Given the description of an element on the screen output the (x, y) to click on. 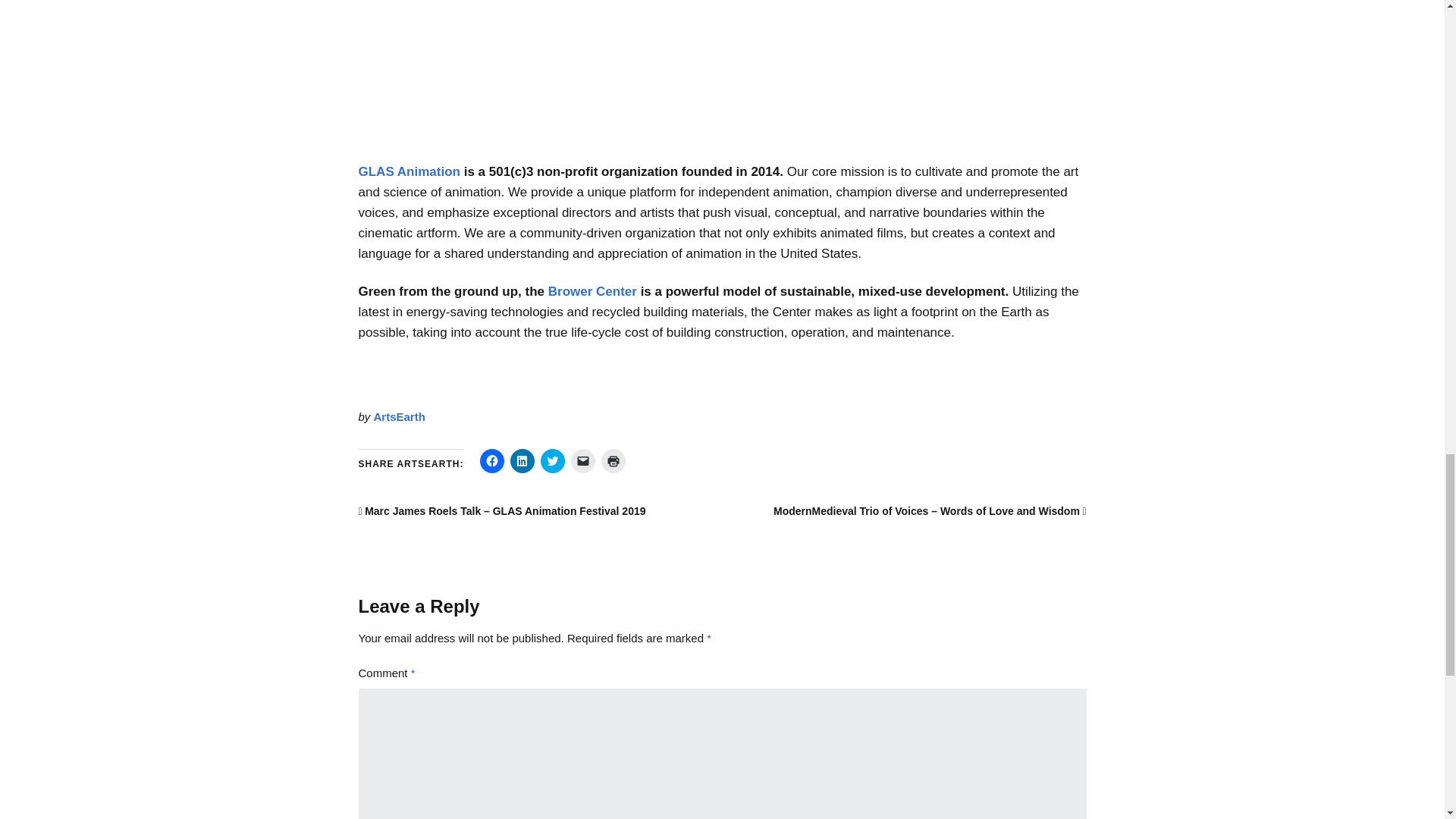
Click to share on LinkedIn (522, 460)
Click to share on Facebook (491, 460)
Click to email a link to a friend (582, 460)
Brower Center (592, 291)
Click to print (613, 460)
ArtsEarth (399, 416)
GLAS Animation (409, 171)
Click to share on Twitter (552, 460)
